Given the description of an element on the screen output the (x, y) to click on. 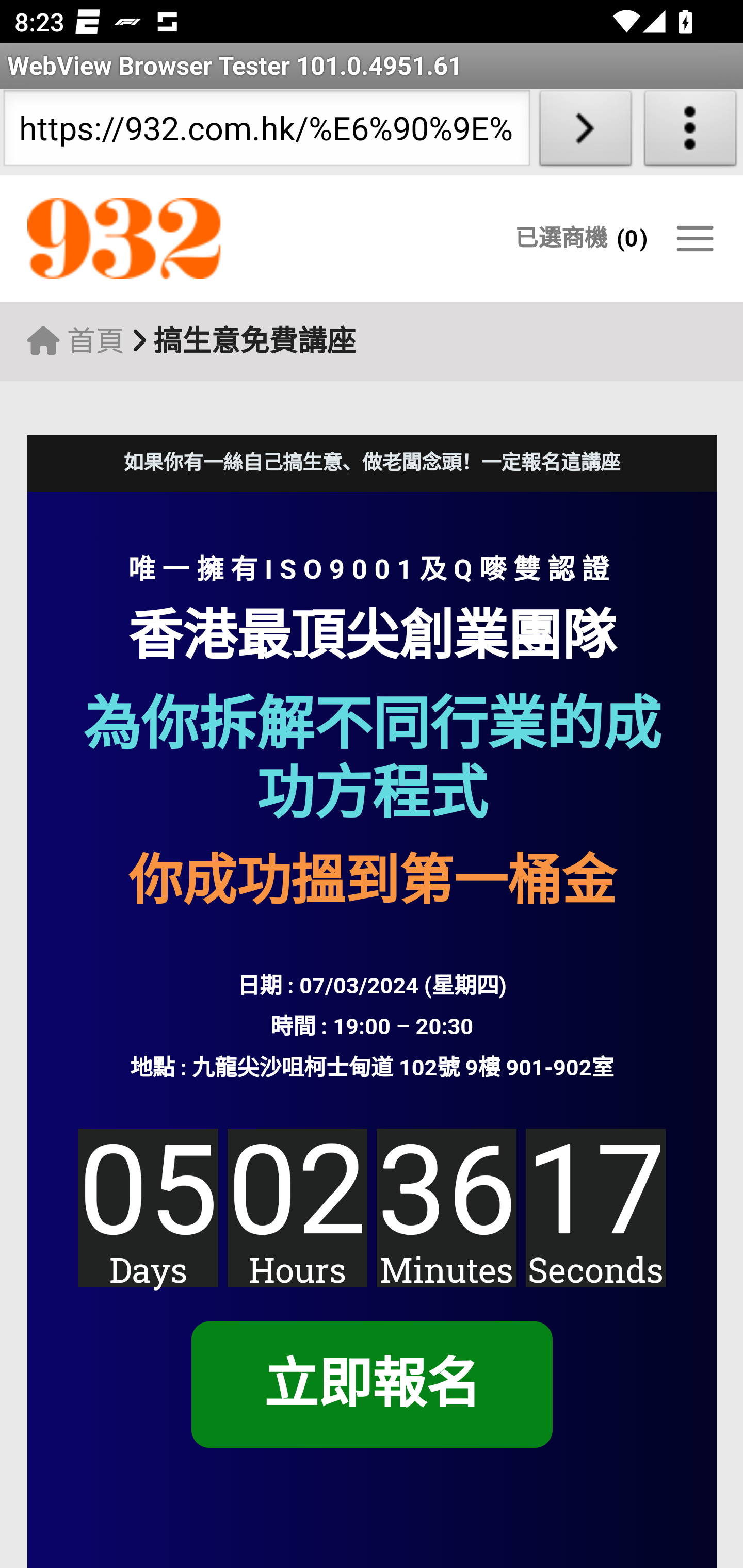
Load URL (585, 132)
About WebView (690, 132)
已選商機 ( 0 ) 已選商機 ( 0 ) (580, 237)
Menu  (694, 237)
932香港生意轉讓平台 (207, 238)
 首頁   首頁 (75, 341)
立即報名 (370, 1385)
